Given the description of an element on the screen output the (x, y) to click on. 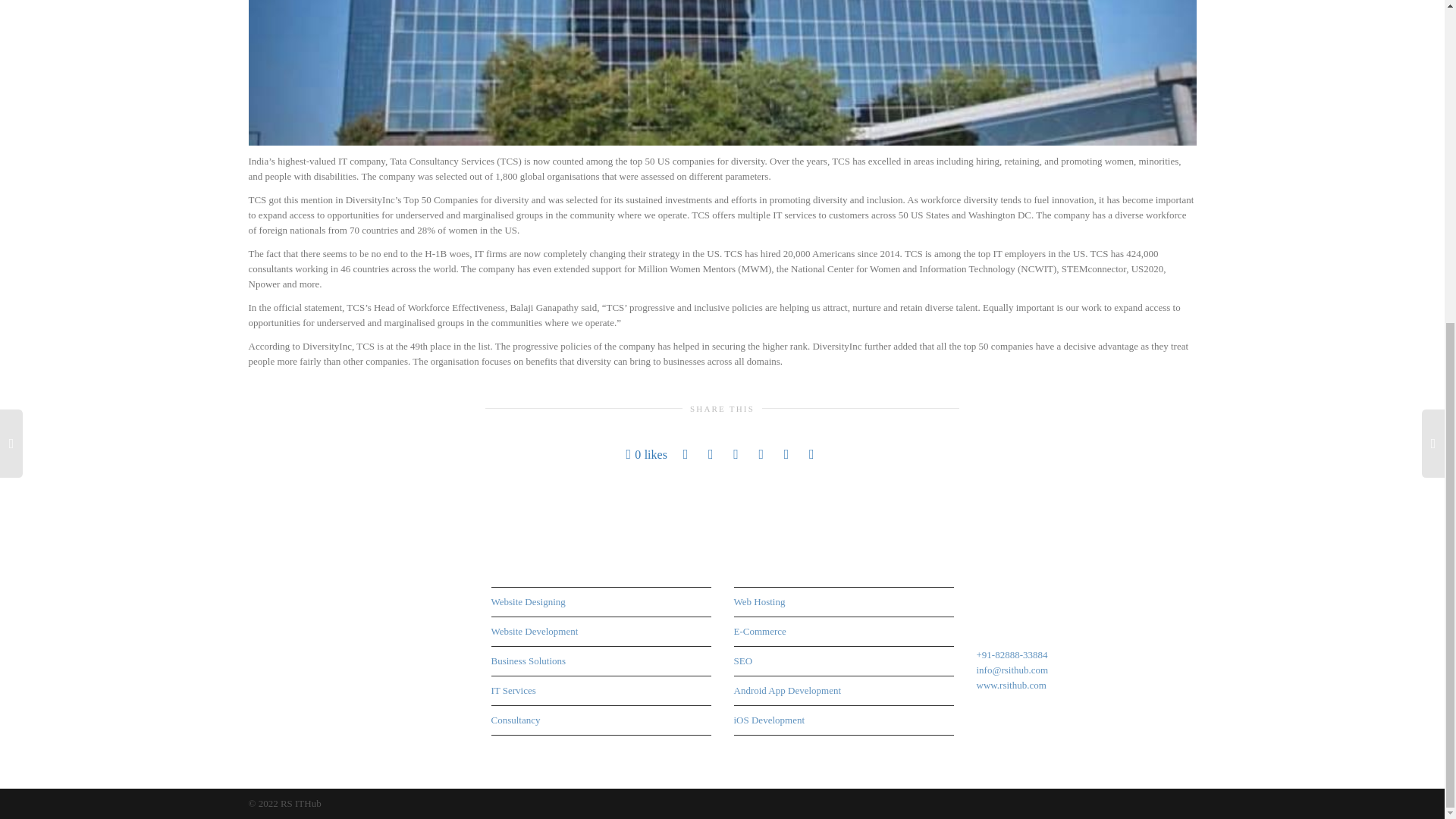
Business Solutions (601, 661)
Website Designing (601, 602)
0 likes (646, 454)
Website Development (601, 632)
